Given the description of an element on the screen output the (x, y) to click on. 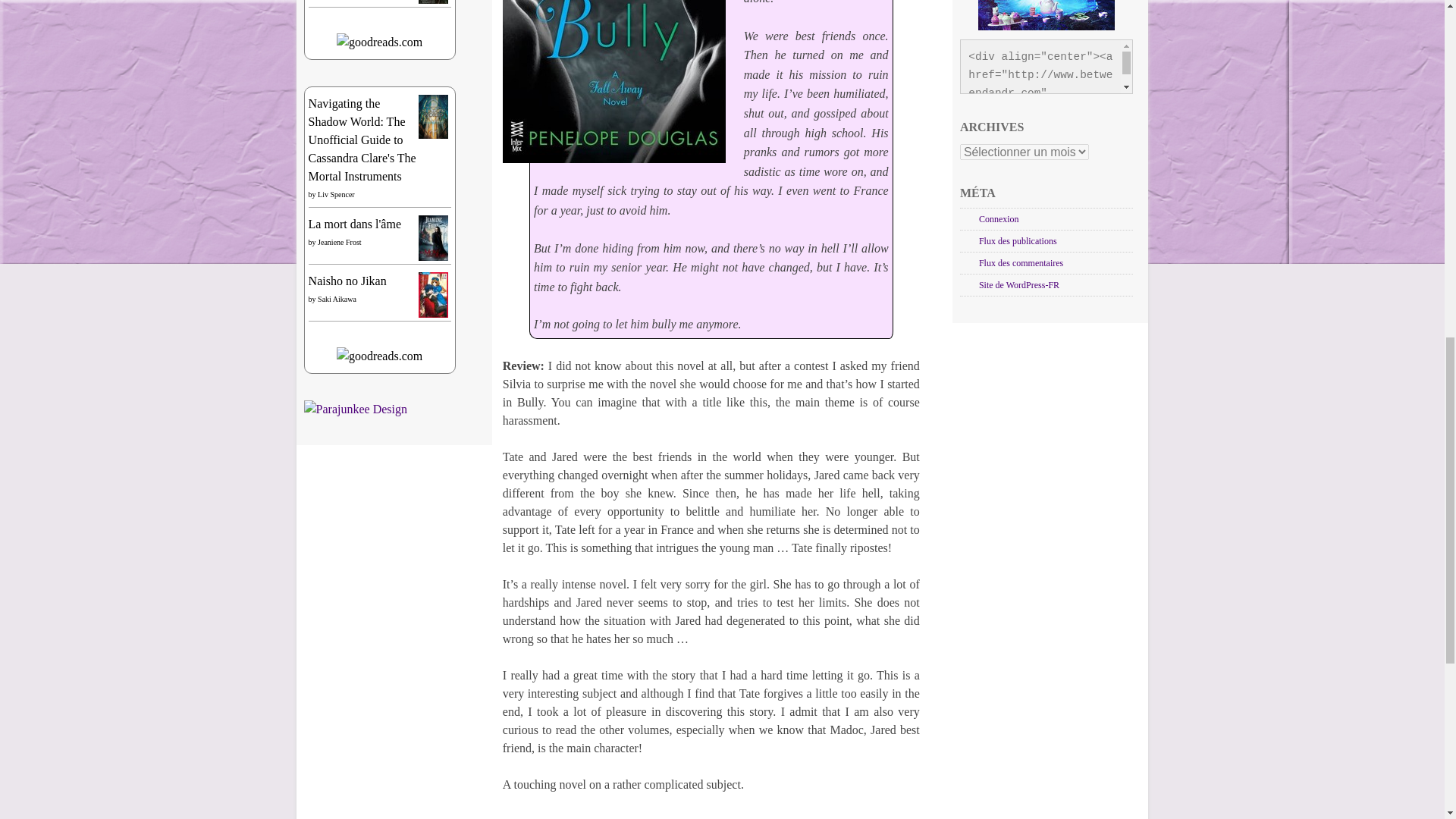
Naisho no Jikan (433, 314)
